Given the description of an element on the screen output the (x, y) to click on. 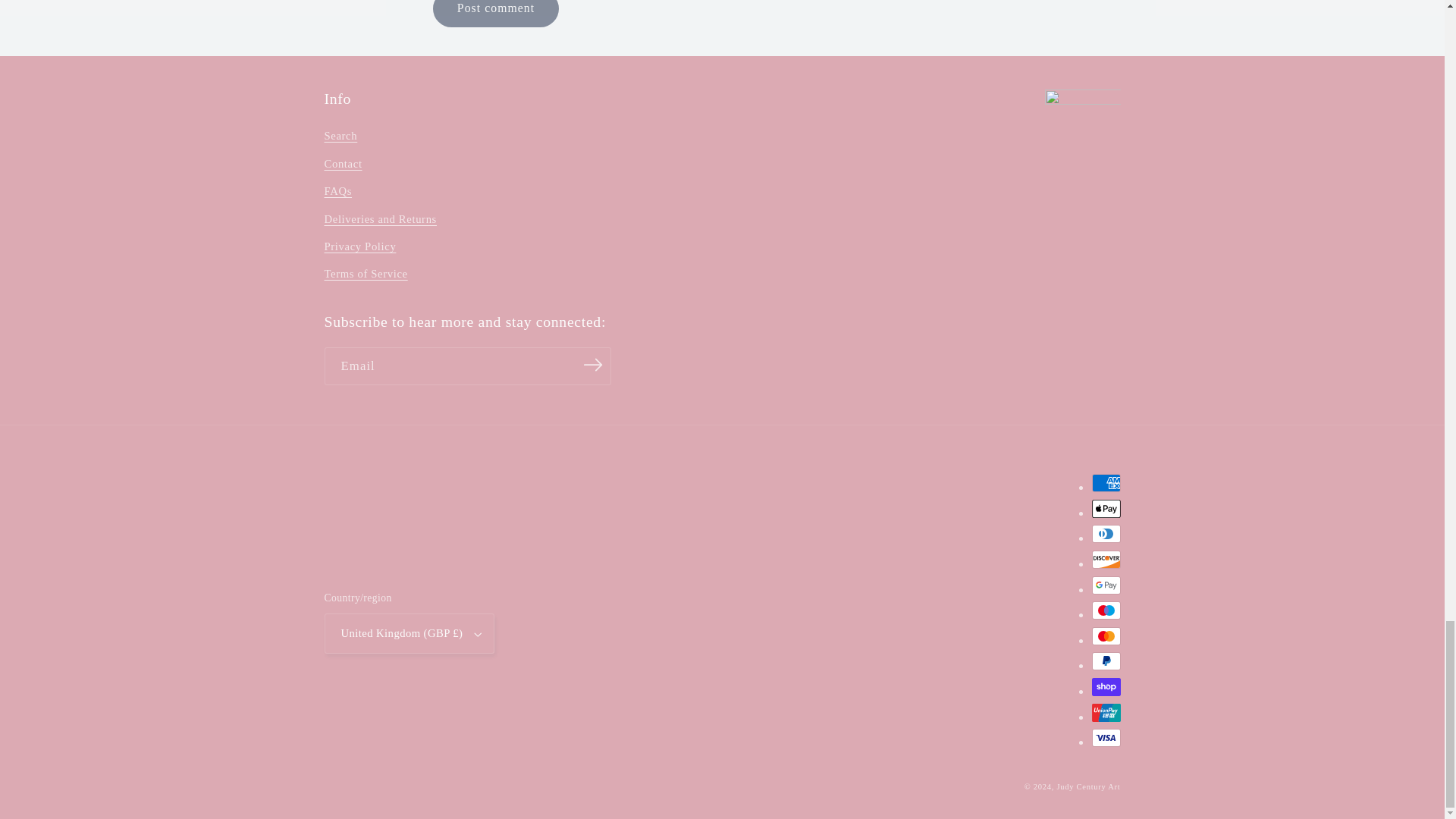
Union Pay (1106, 712)
American Express (1106, 483)
Visa (1106, 737)
Discover (1106, 559)
Diners Club (1106, 533)
Post comment (494, 13)
Google Pay (1106, 585)
Apple Pay (1106, 508)
PayPal (1106, 660)
Mastercard (1106, 636)
